Given the description of an element on the screen output the (x, y) to click on. 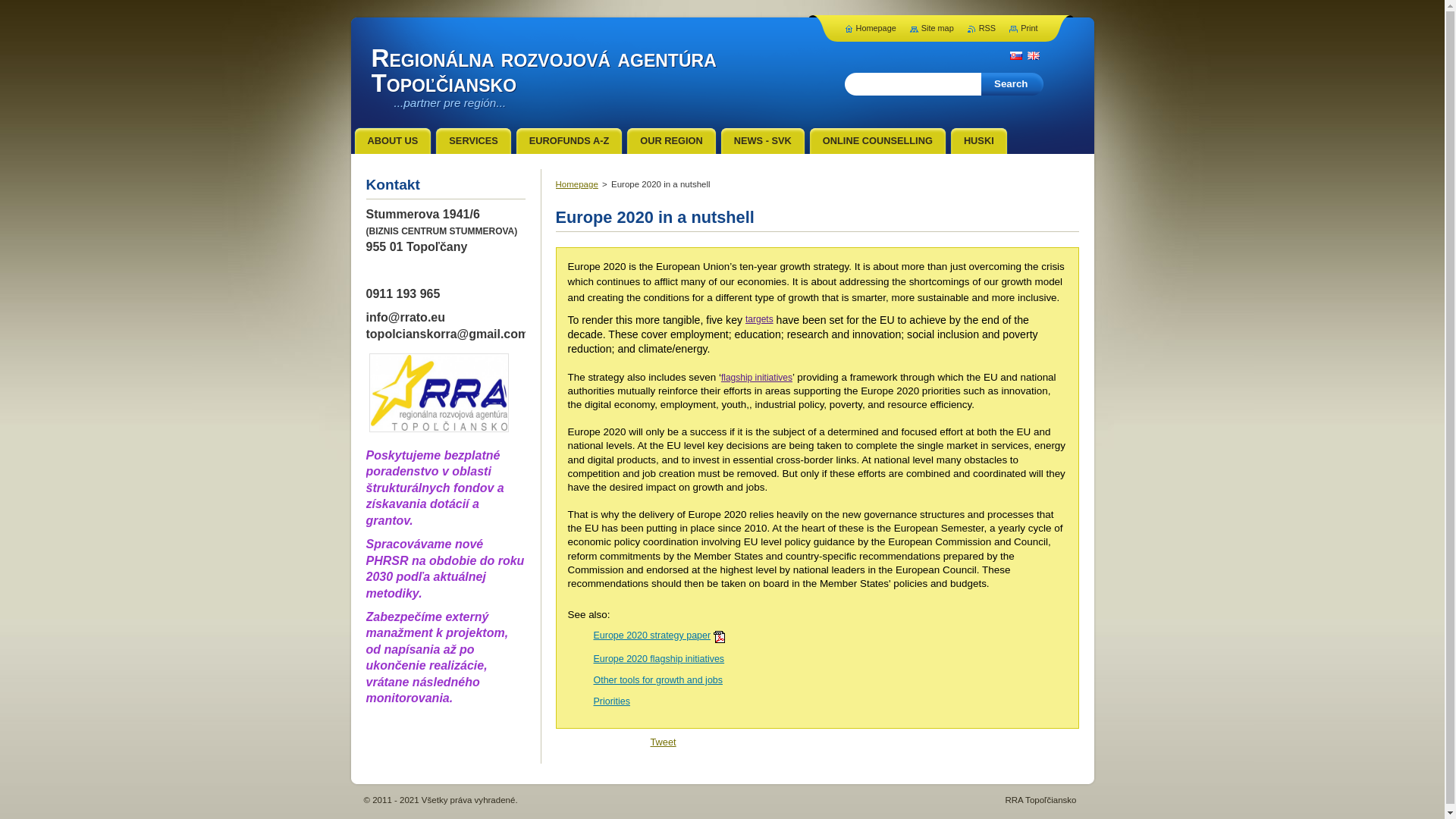
Go to site map. (931, 27)
Priorities (611, 701)
NEWS - SVK (762, 140)
HUSKI (978, 140)
EUROFUNDS A-Z (569, 140)
Europe 2020 flagship initiatives (657, 658)
Priorities (611, 701)
Europe 2020 strategy paper (651, 634)
Site map (931, 27)
Print (1022, 27)
